Given the description of an element on the screen output the (x, y) to click on. 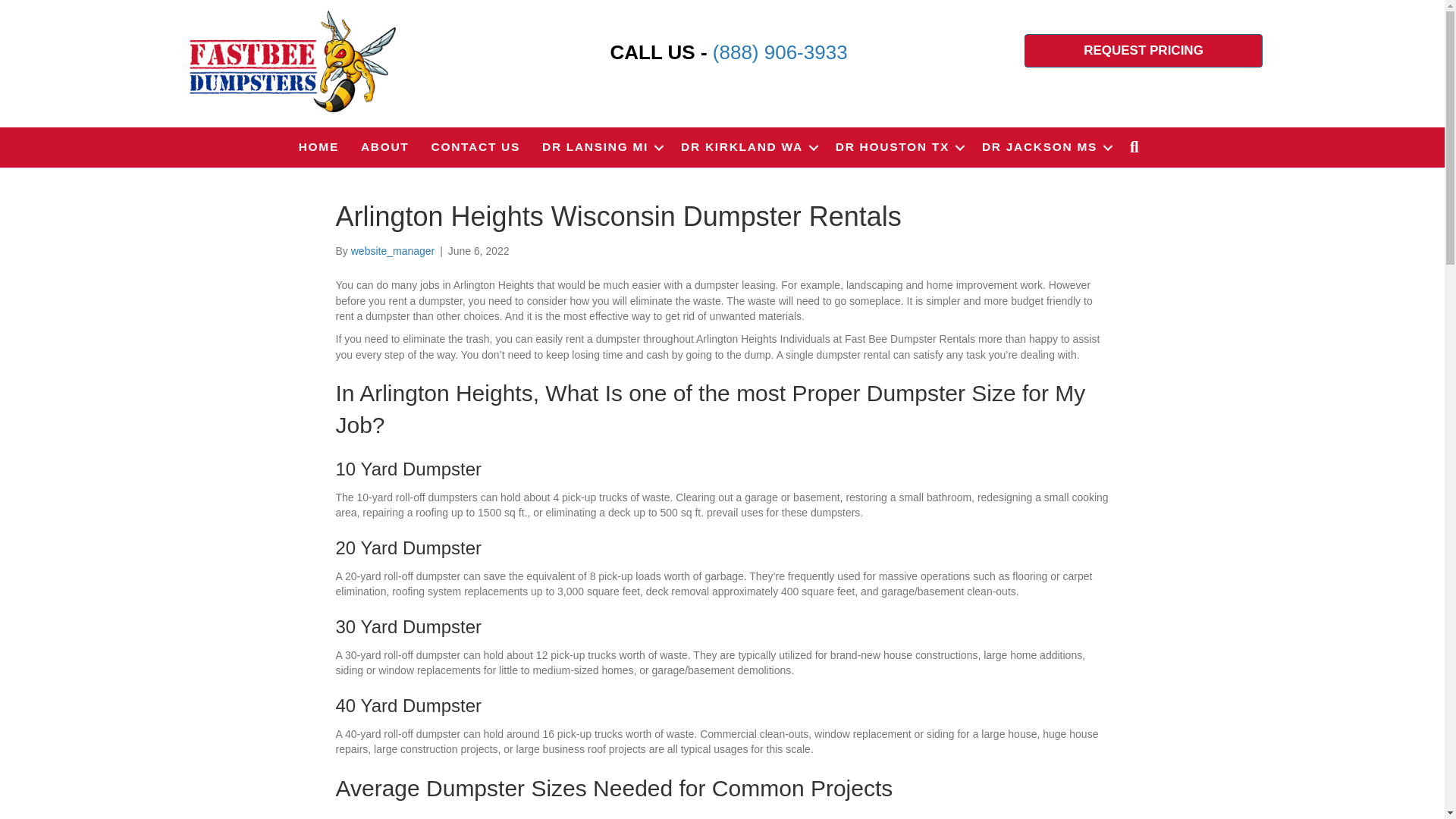
fastbeedumpsters-logo (291, 61)
REQUEST PRICING (1144, 50)
ABOUT (385, 146)
HOME (318, 146)
CONTACT US (475, 146)
DR LANSING MI (600, 146)
